Given the description of an element on the screen output the (x, y) to click on. 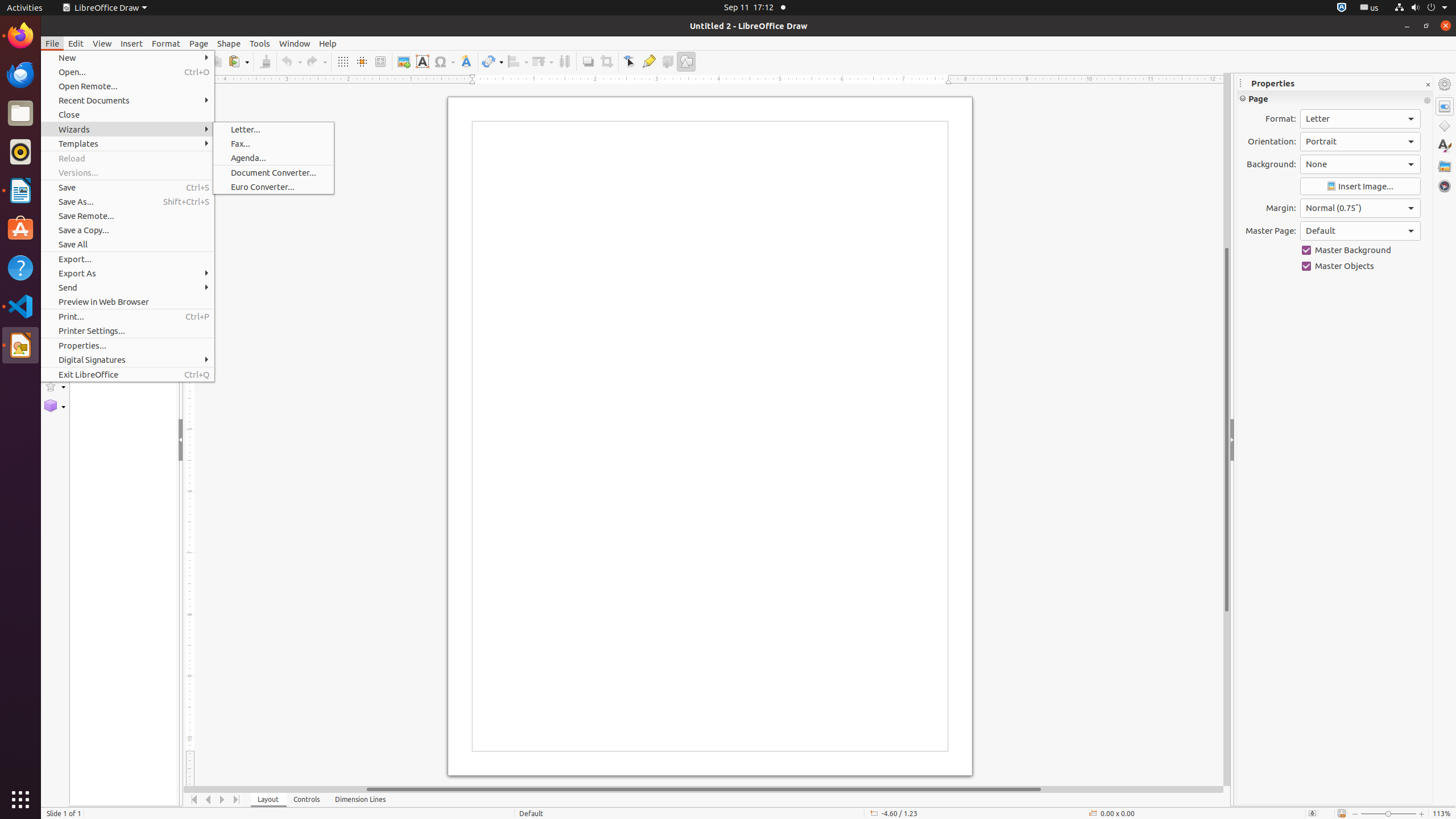
Save a Copy... Element type: menu-item (127, 229)
Templates Element type: menu (127, 143)
:1.21/StatusNotifierItem Element type: menu (1369, 7)
Styles Element type: radio-button (1444, 146)
Undo Element type: push-button (290, 61)
